Given the description of an element on the screen output the (x, y) to click on. 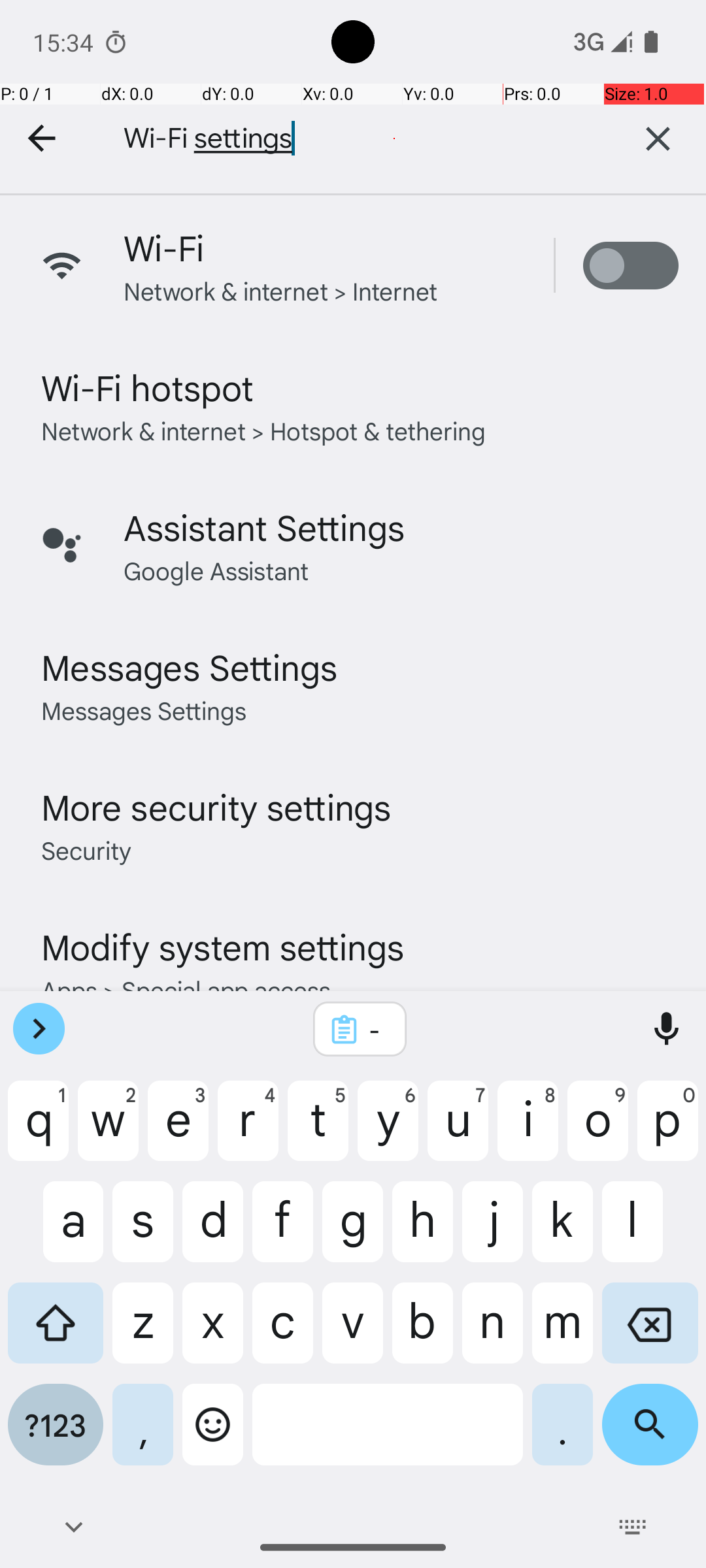
Wi-Fi settings Element type: android.widget.EditText (345, 138)
Clear text Element type: android.widget.ImageButton (657, 138)
Network & internet > Internet Element type: android.widget.TextView (280, 289)
Wi-Fi hotspot Element type: android.widget.TextView (147, 386)
Network & internet > Hotspot & tethering Element type: android.widget.TextView (263, 429)
Assistant Settings Element type: android.widget.TextView (263, 526)
Google Assistant Element type: android.widget.TextView (215, 569)
Messages Settings Element type: android.widget.TextView (189, 666)
More security settings Element type: android.widget.TextView (216, 806)
Modify system settings Element type: android.widget.TextView (222, 945)
Apps > Special app access Element type: android.widget.TextView (185, 988)
